Given the description of an element on the screen output the (x, y) to click on. 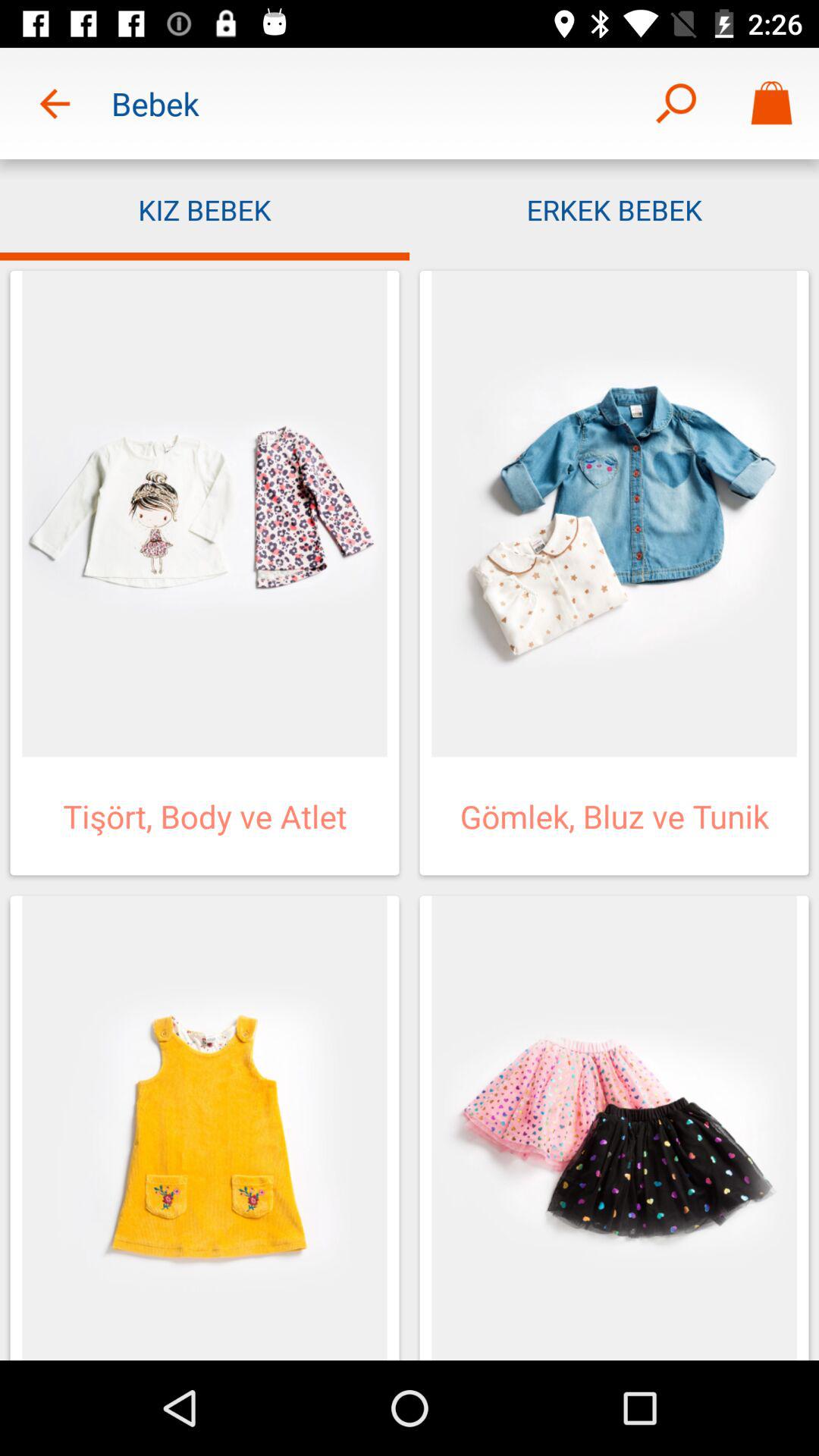
tap icon above the erkek bebek icon (771, 103)
